Given the description of an element on the screen output the (x, y) to click on. 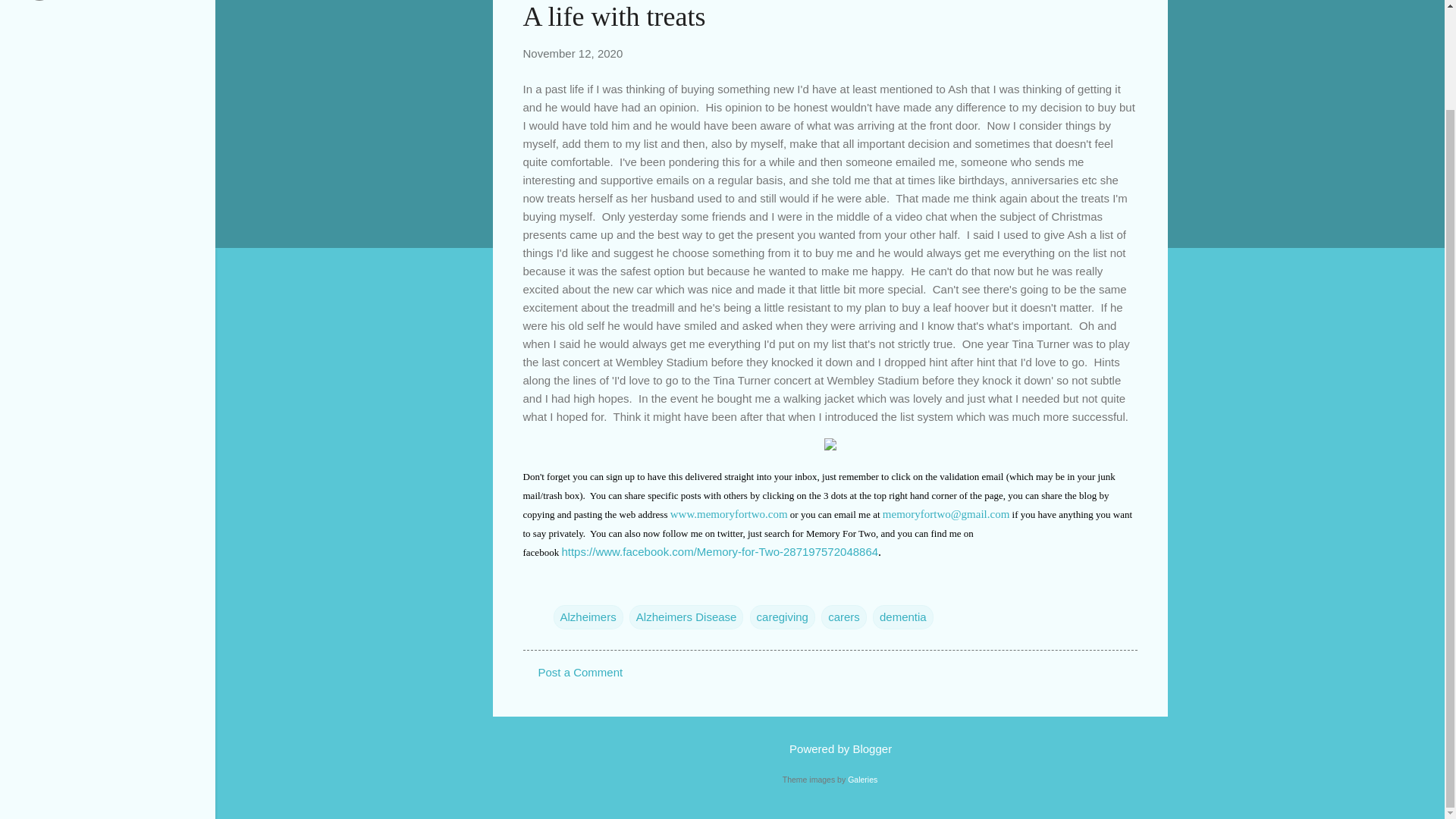
Alzheimers (588, 616)
November 12, 2020 (572, 52)
Alzheimers Disease (686, 616)
Post a Comment (580, 671)
Galeries (862, 778)
Powered by Blogger (829, 748)
permanent link (572, 52)
caregiving (782, 616)
dementia (902, 616)
www.memoryfortwo.com (728, 512)
carers (843, 616)
